Given the description of an element on the screen output the (x, y) to click on. 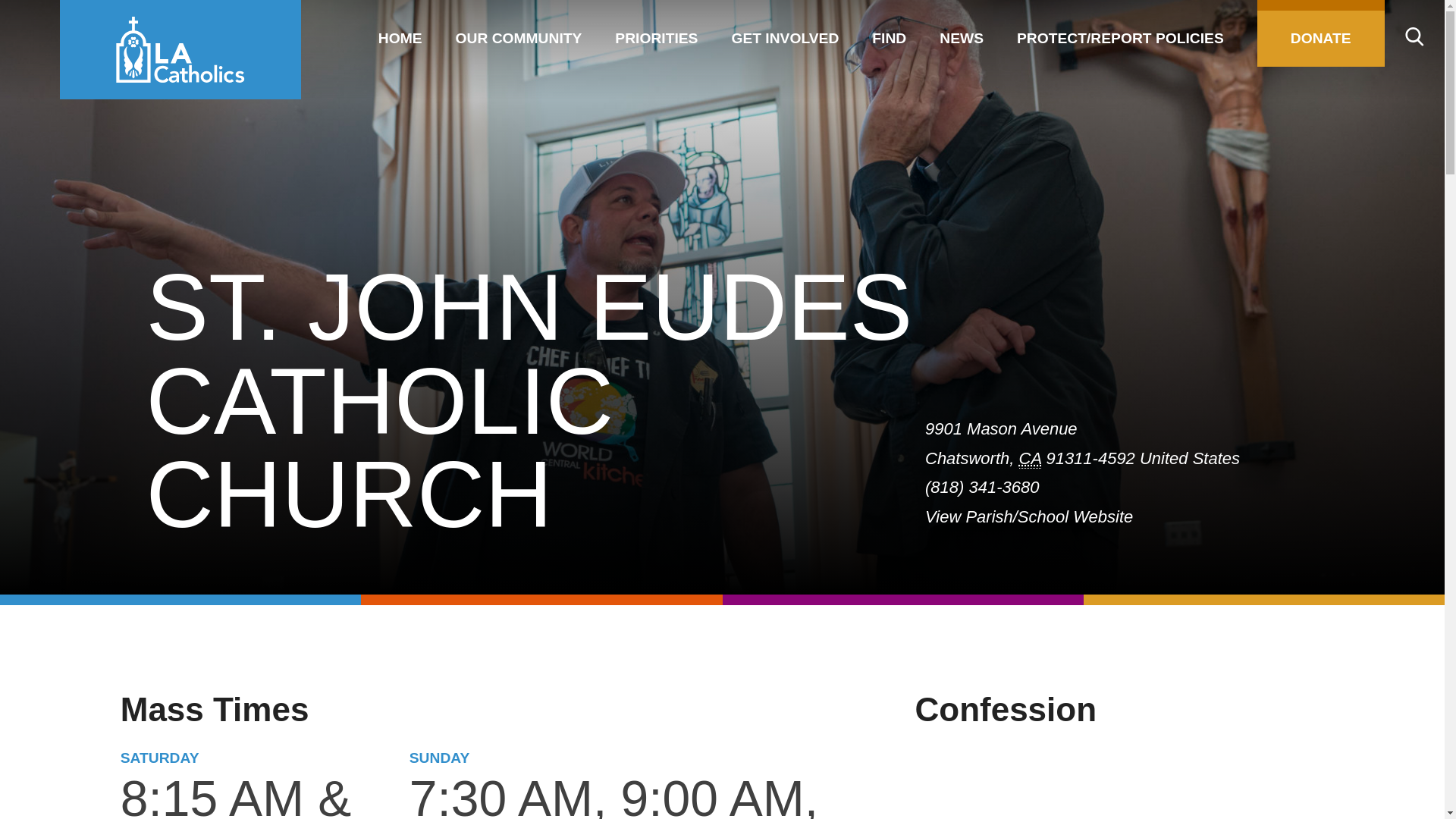
HOME (400, 33)
California (1030, 458)
Catholic LA (180, 49)
OUR COMMUNITY (518, 33)
